Given the description of an element on the screen output the (x, y) to click on. 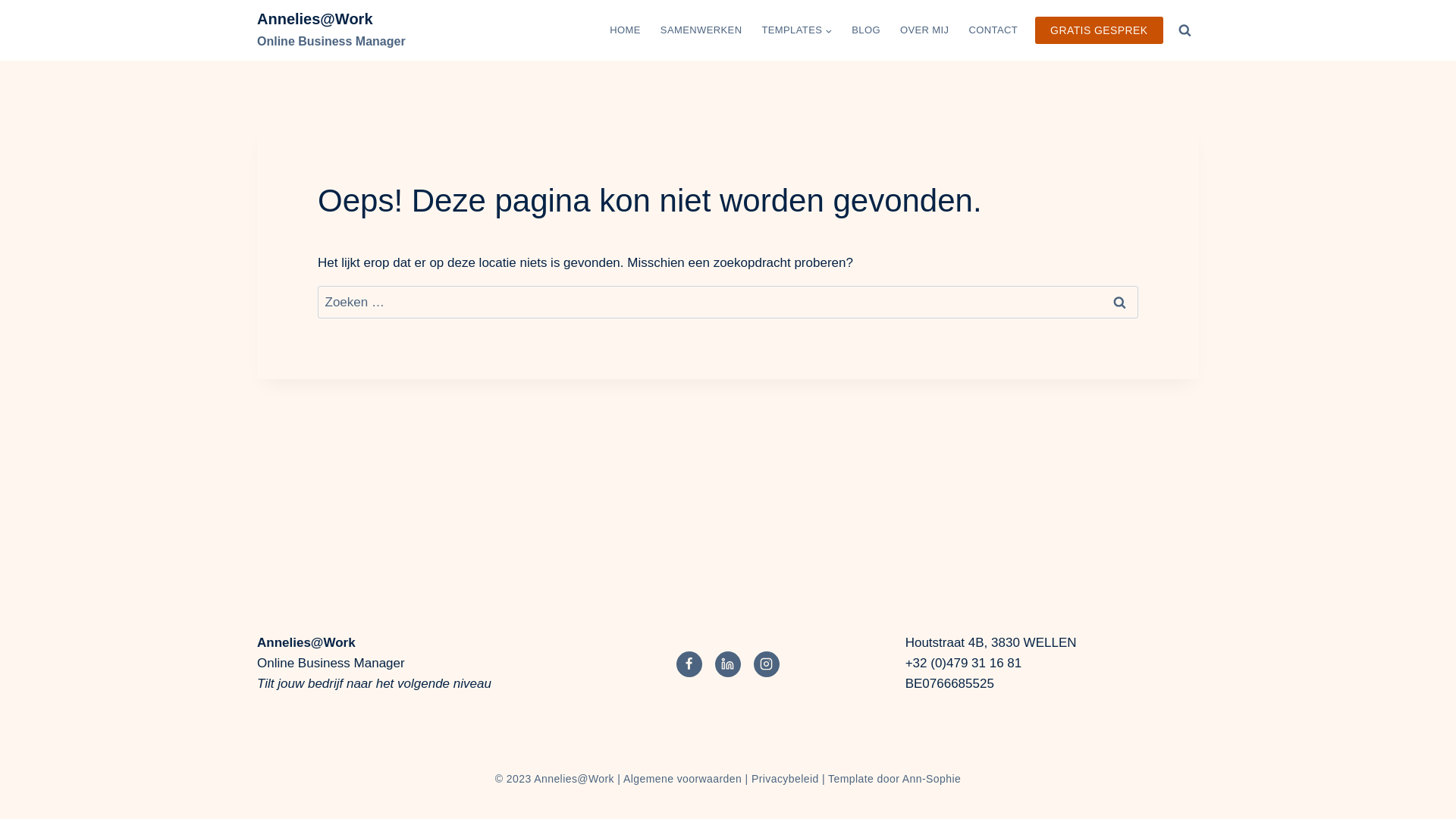
TEMPLATES Element type: text (796, 29)
Zoeken Element type: text (1119, 301)
GRATIS GESPREK Element type: text (1099, 30)
BLOG Element type: text (865, 29)
CONTACT Element type: text (992, 29)
SAMENWERKEN Element type: text (701, 29)
HOME Element type: text (624, 29)
Annelies@Work
Online Business Manager Element type: text (331, 29)
OVER MIJ Element type: text (924, 29)
Privacybeleid Element type: text (785, 778)
Algemene voorwaarden Element type: text (682, 778)
